Given the description of an element on the screen output the (x, y) to click on. 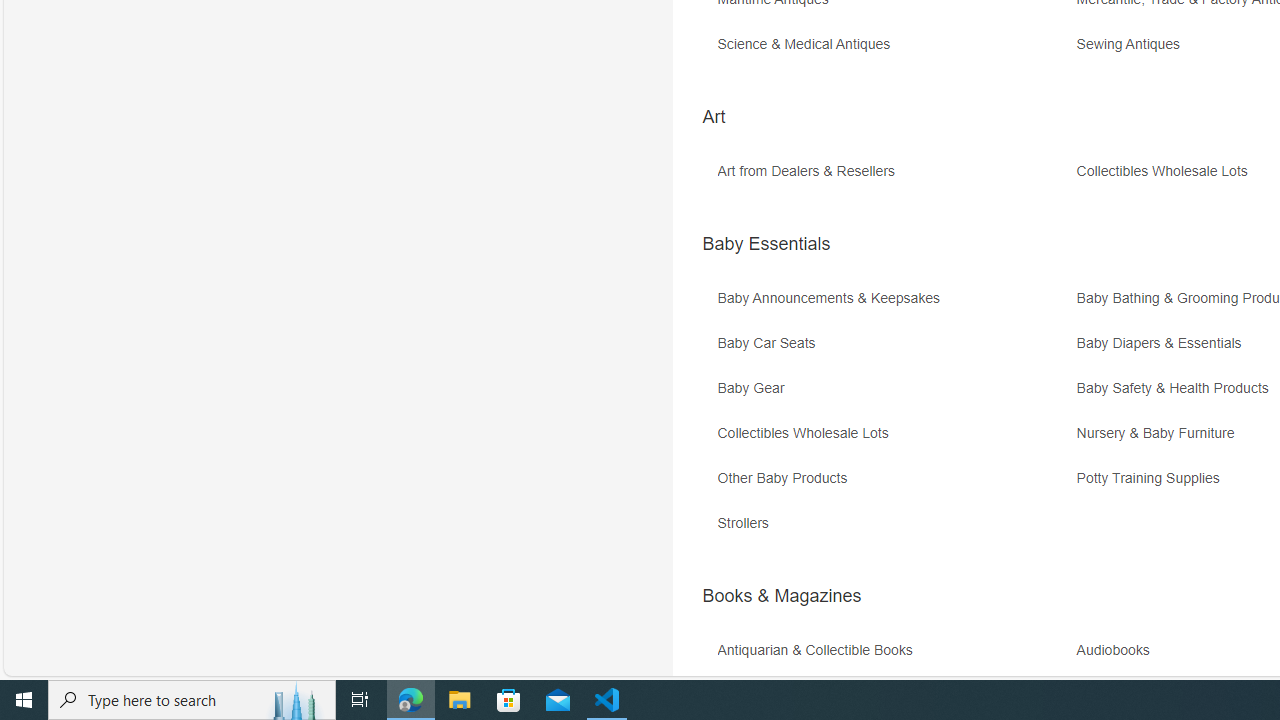
Potty Training Supplies (1153, 478)
Baby Safety & Health Products (1177, 388)
Baby Car Seats (894, 349)
Baby Gear (894, 395)
Baby Announcements & Keepsakes (833, 298)
Science & Medical Antiques (808, 43)
Art (713, 116)
Baby Gear (755, 388)
Audiobooks (1117, 650)
Sewing Antiques (1133, 43)
Science & Medical Antiques (894, 51)
Art from Dealers & Resellers (894, 178)
Antiquarian & Collectible Books (819, 650)
Books & Magazines (781, 596)
Nursery & Baby Furniture (1160, 433)
